Given the description of an element on the screen output the (x, y) to click on. 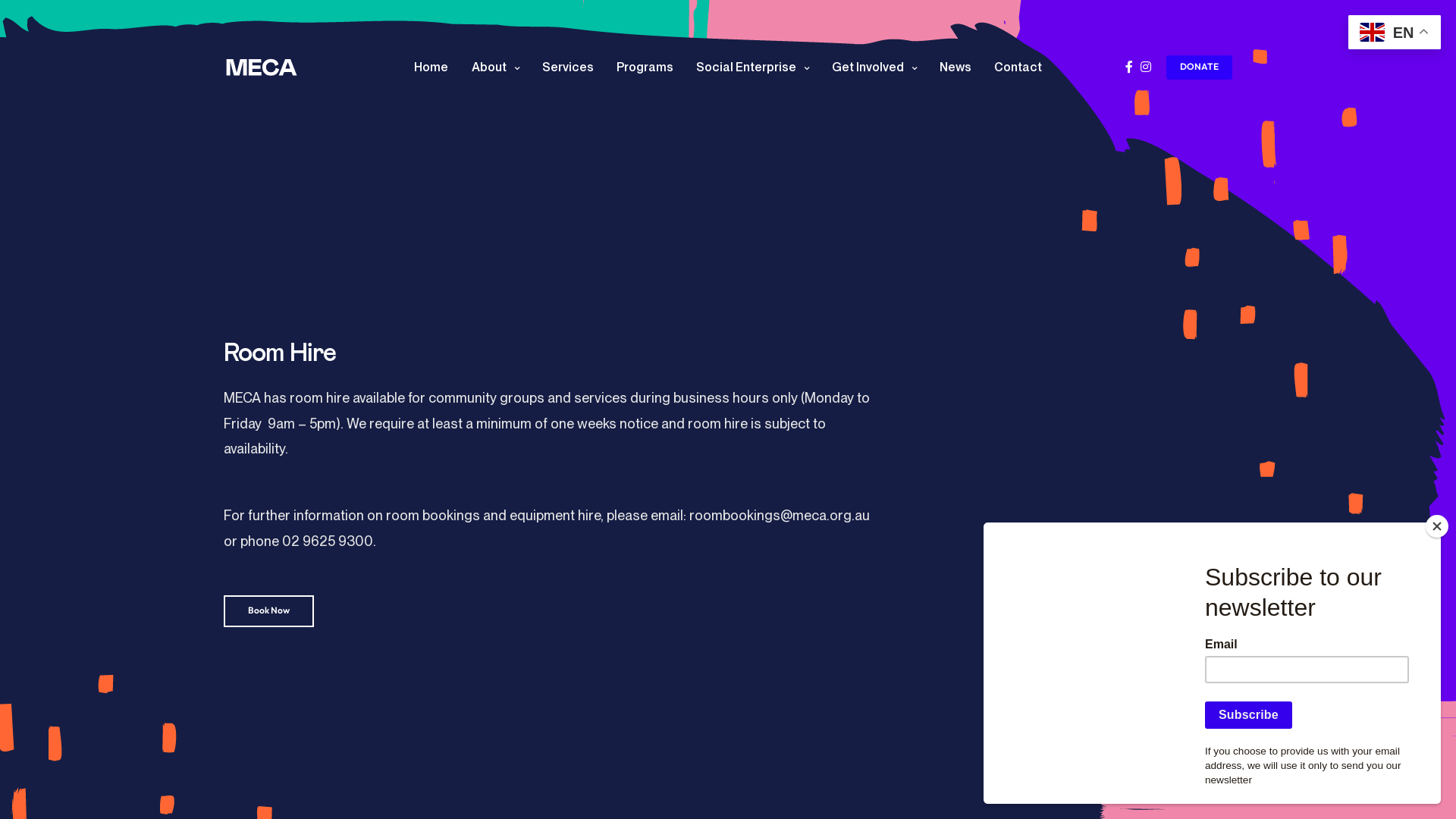
Book Now Element type: text (268, 611)
About Element type: text (495, 66)
Get Involved Element type: text (873, 66)
News Element type: text (954, 66)
Home Element type: text (431, 66)
Social Enterprise Element type: text (752, 66)
Contact Element type: text (1017, 66)
Programs Element type: text (643, 66)
Services Element type: text (567, 66)
DONATE Element type: text (1199, 66)
MECA Element type: hover (261, 66)
